Given the description of an element on the screen output the (x, y) to click on. 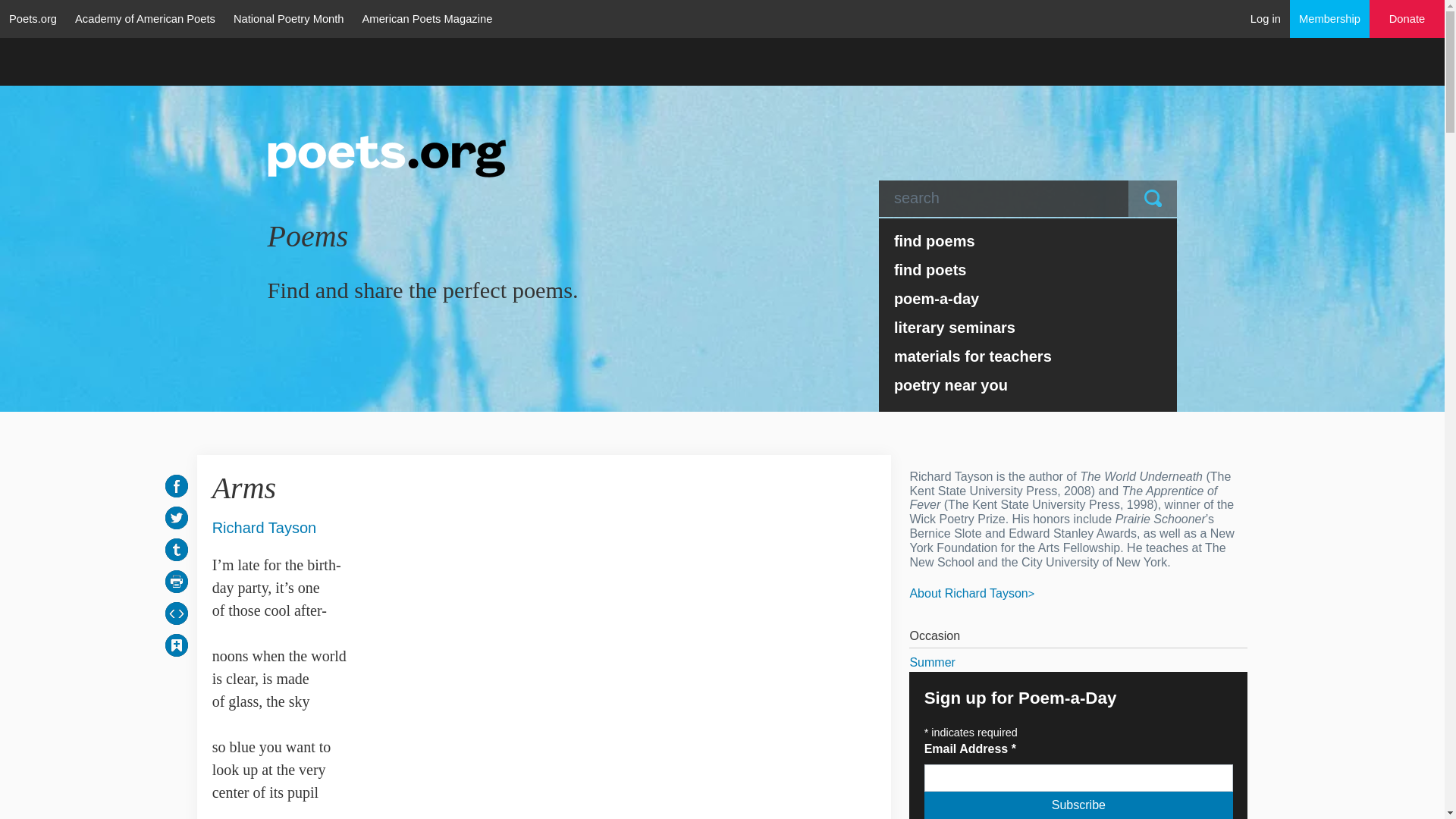
National Poetry Month (288, 18)
Donate (1407, 18)
American Poets Magazine (427, 18)
Poets.org (32, 18)
Summer (1077, 662)
Richard Tayson (263, 527)
Support the mission of the Academy of American Poets (1407, 18)
literary seminars (1028, 327)
find poets (1028, 269)
materials for teachers (1028, 356)
poem-a-day (1028, 298)
Log in (1265, 18)
Become a member of the Academy of American Poets (1330, 18)
Submit (1152, 198)
poetry near you (1028, 385)
